Given the description of an element on the screen output the (x, y) to click on. 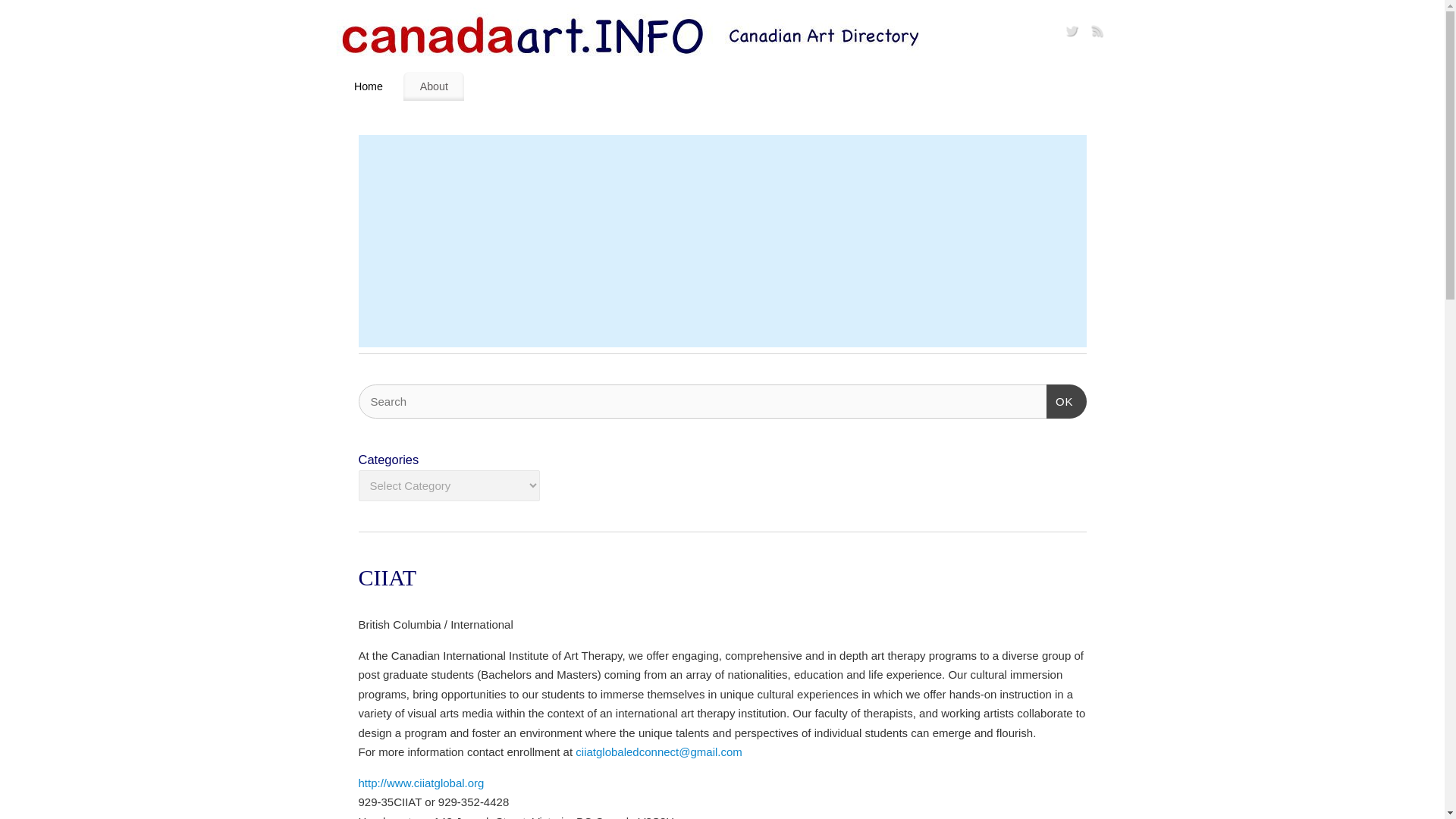
CIIAT (387, 577)
Permalink to CIIAT (387, 577)
OK (1066, 401)
Home (367, 86)
About (433, 86)
